Given the description of an element on the screen output the (x, y) to click on. 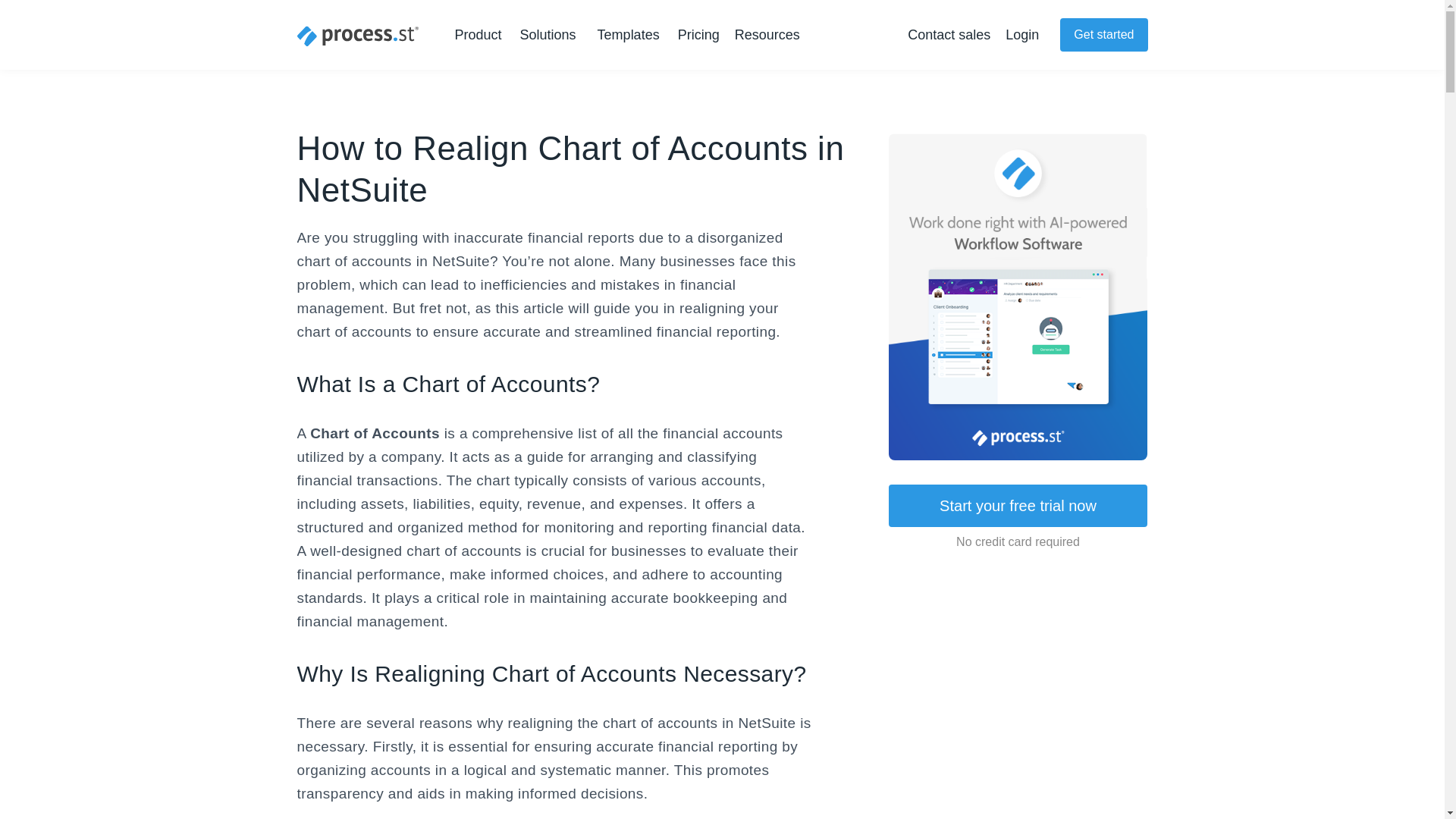
Contact Process Street sales (948, 34)
Process Street login (1022, 34)
Process Street workflow templates (627, 34)
Templates (627, 34)
Solutions (550, 34)
Resources (770, 34)
Pricing (698, 34)
Process Street pricing (698, 34)
Get started (1103, 34)
Contact sales (948, 34)
